Given the description of an element on the screen output the (x, y) to click on. 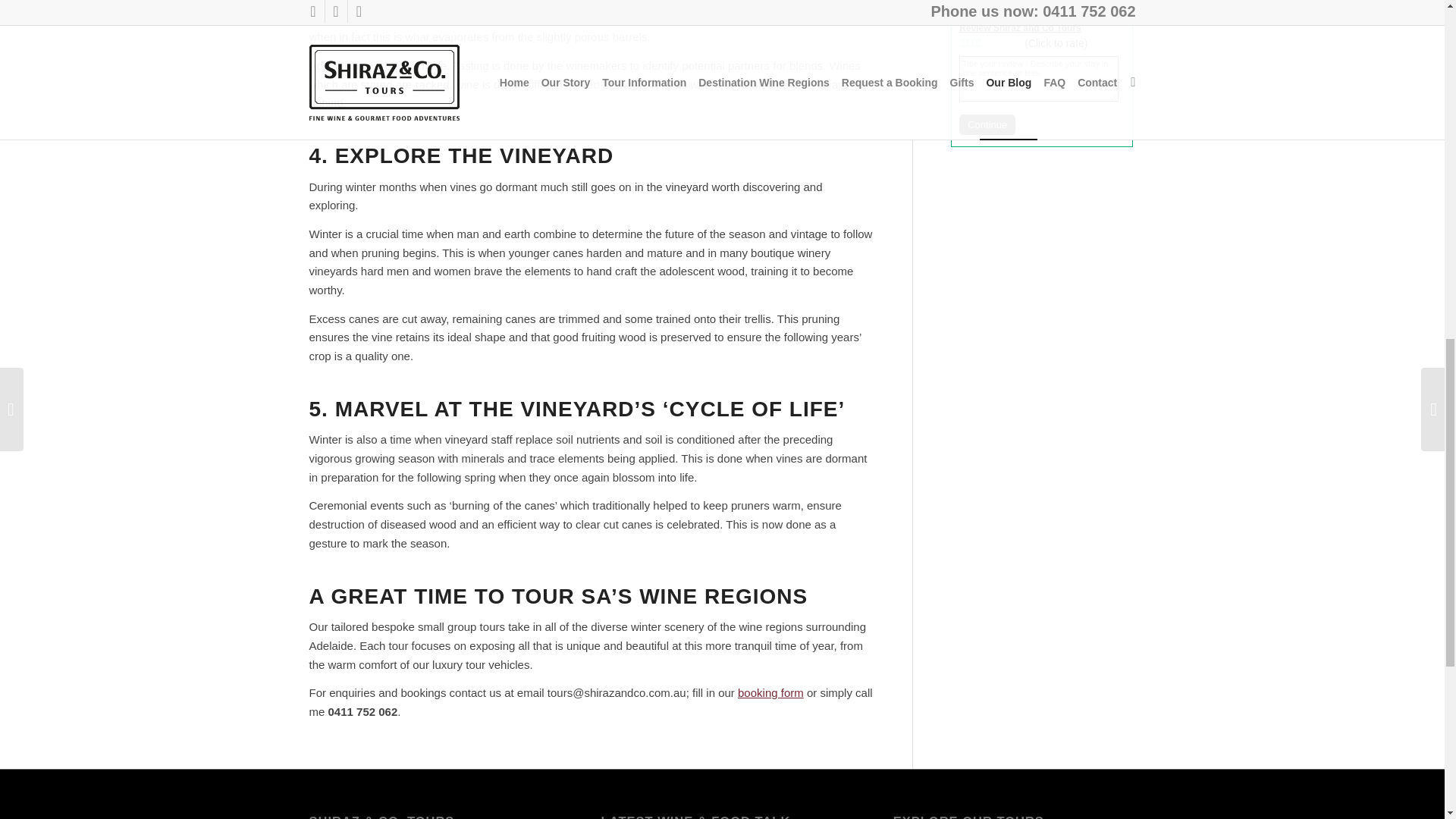
Continue (986, 124)
